Given the description of an element on the screen output the (x, y) to click on. 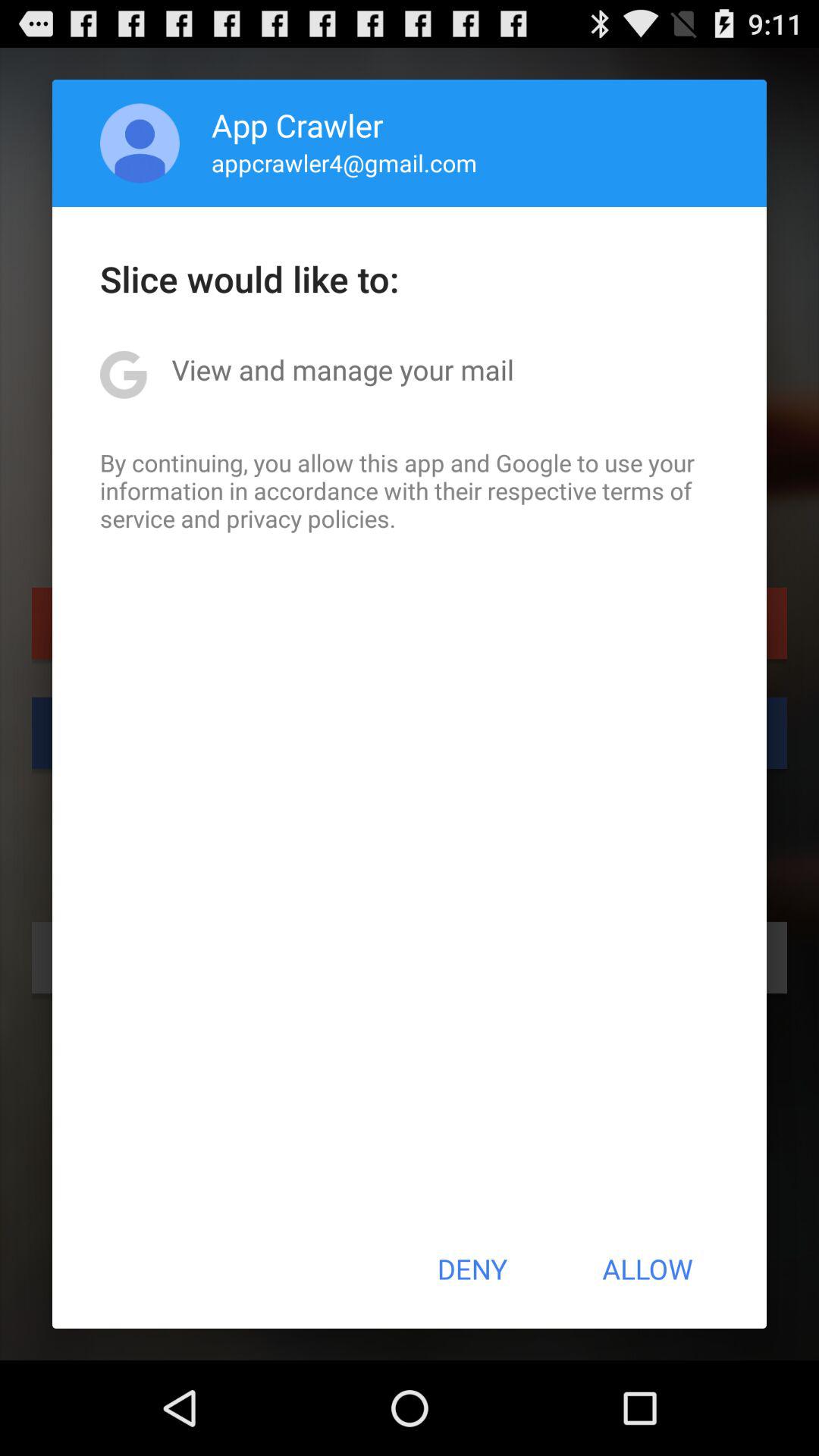
choose item above the slice would like (344, 162)
